Given the description of an element on the screen output the (x, y) to click on. 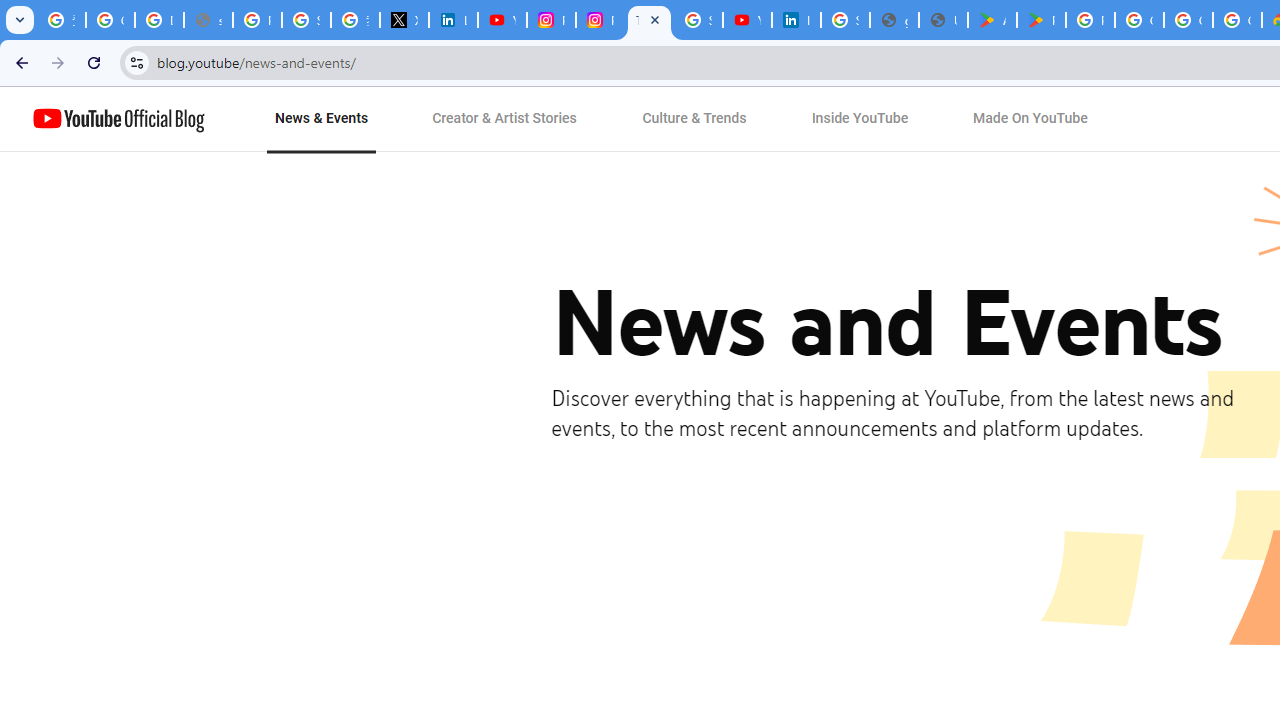
support.google.com - Network error (208, 20)
Culture & Trends (694, 119)
LinkedIn Privacy Policy (452, 20)
News & Events (321, 119)
Creator & Artist Stories (505, 119)
X (404, 20)
PAW Patrol Rescue World - Apps on Google Play (1041, 20)
